Given the description of an element on the screen output the (x, y) to click on. 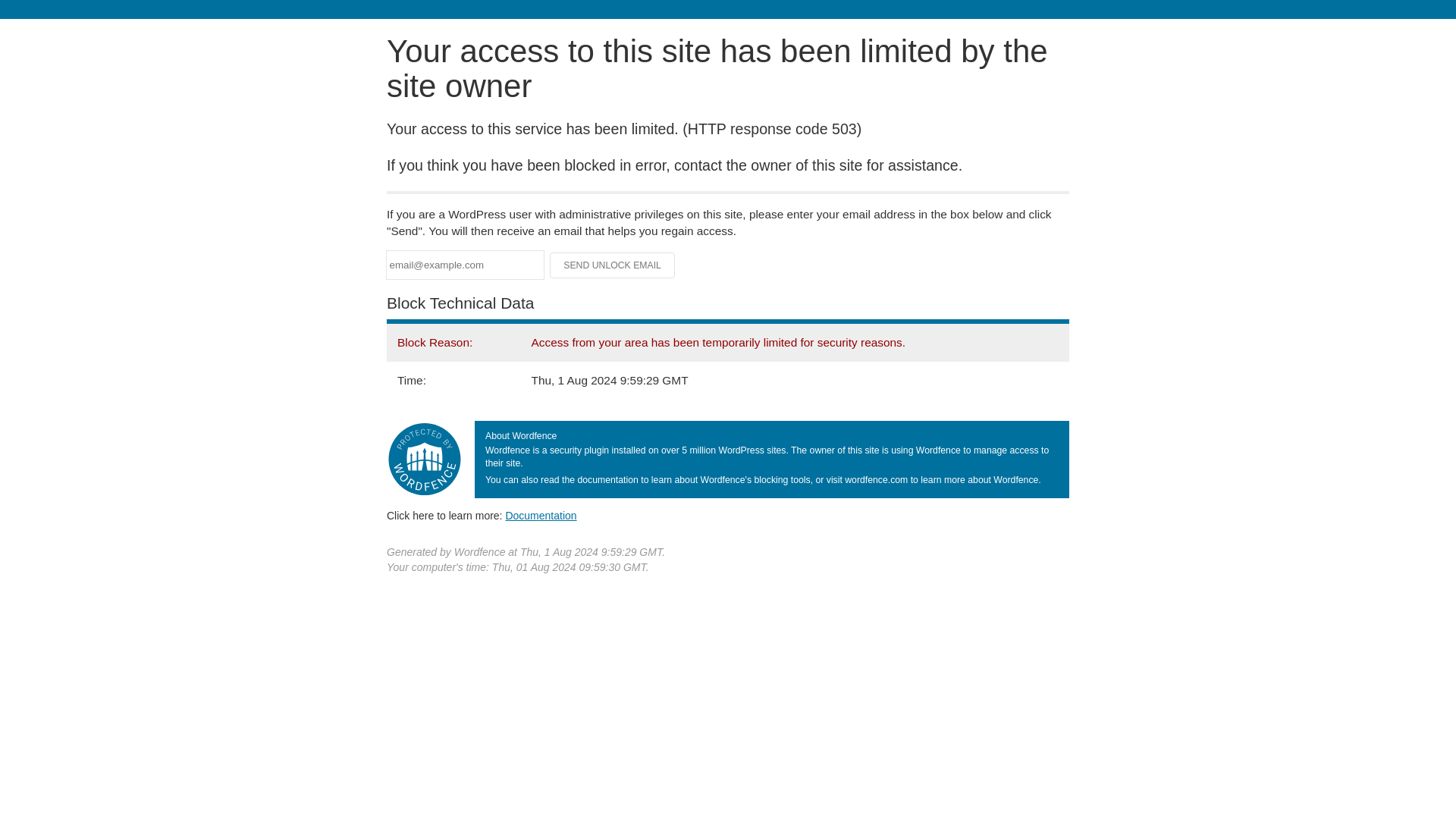
Send Unlock Email (612, 265)
Documentation (540, 515)
Send Unlock Email (612, 265)
